Given the description of an element on the screen output the (x, y) to click on. 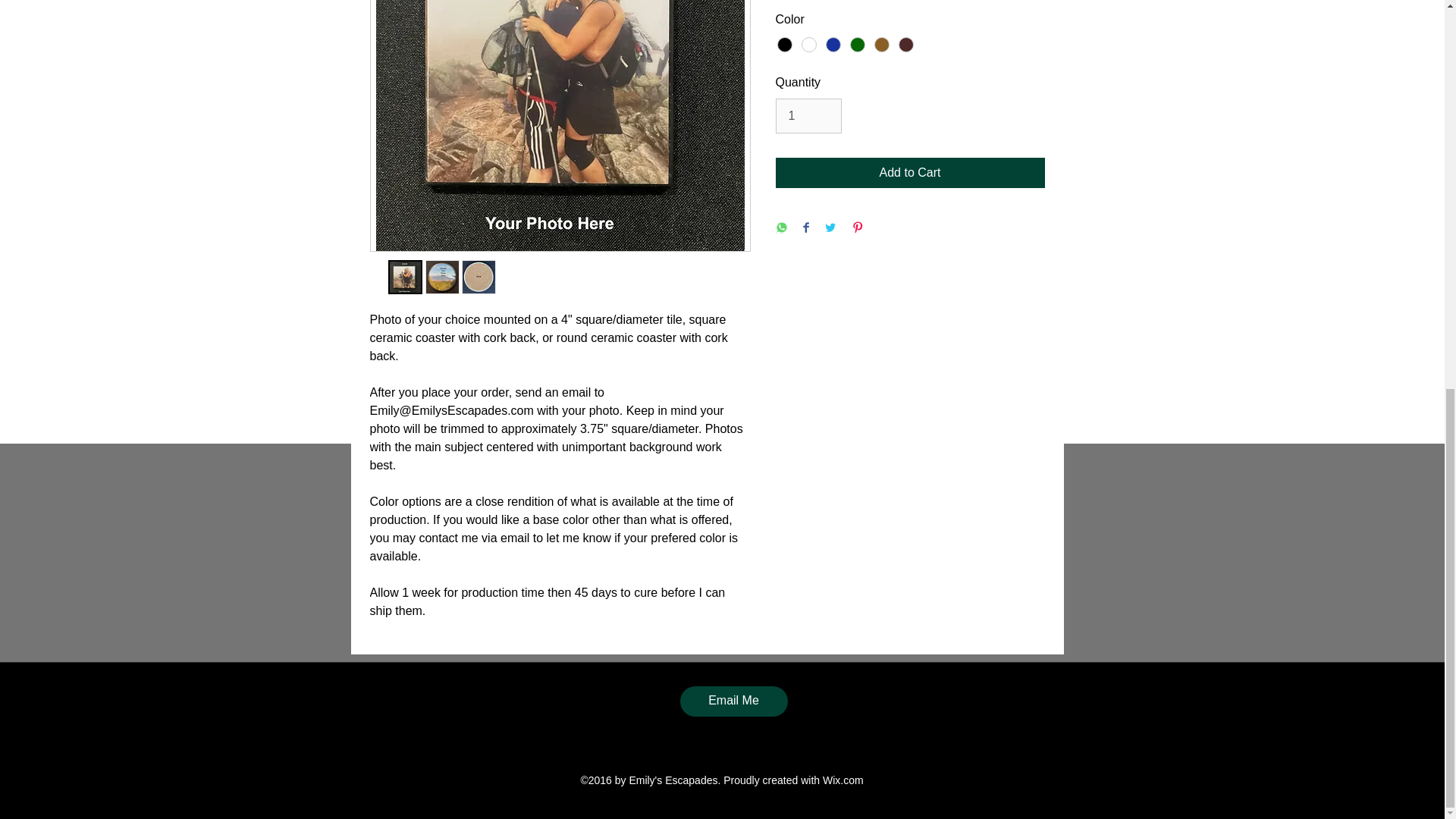
Email Me (733, 701)
Add to Cart (908, 173)
1 (807, 115)
